Given the description of an element on the screen output the (x, y) to click on. 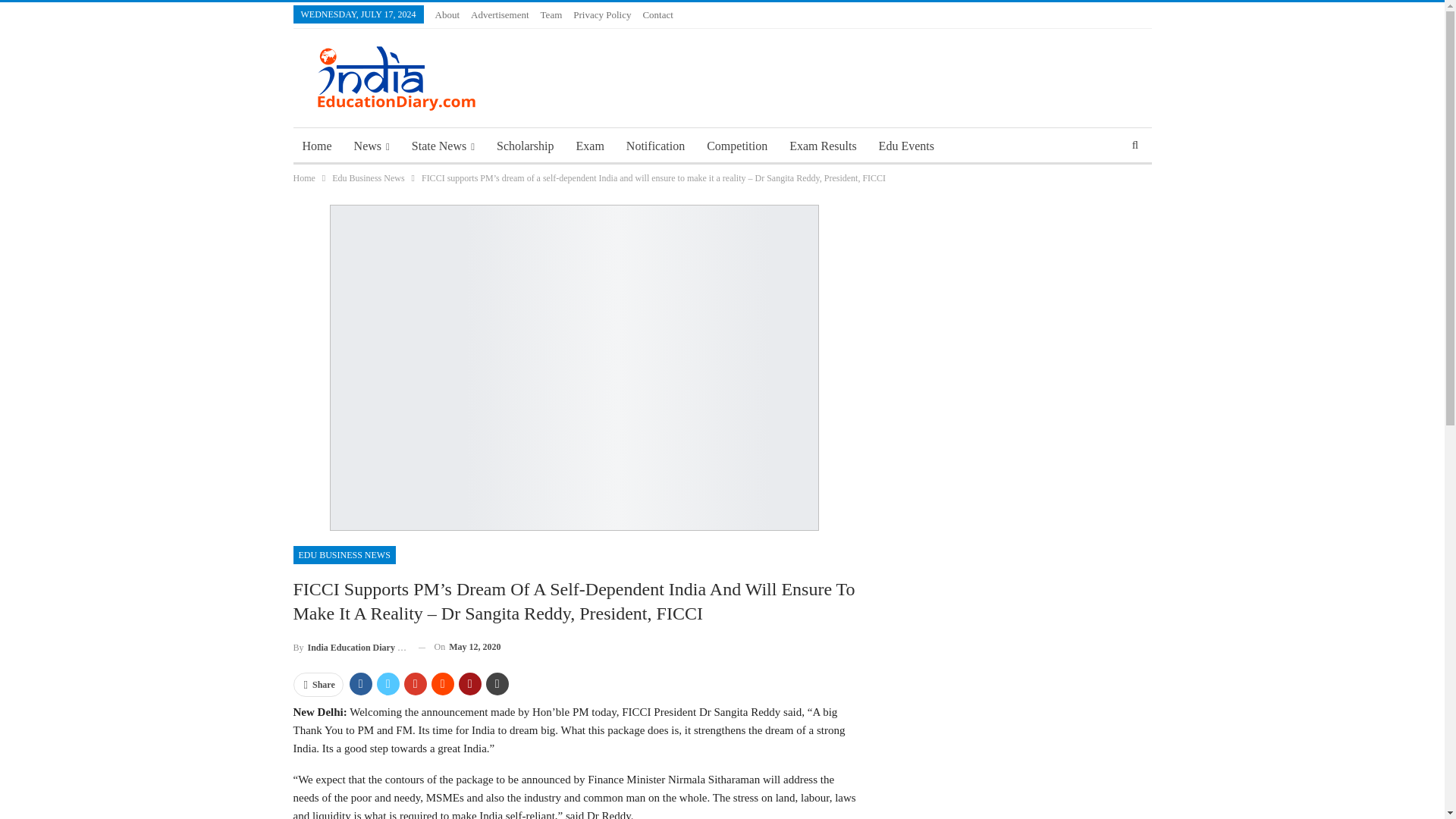
Home (316, 145)
Browse Author Articles (349, 647)
Privacy Policy (601, 14)
Contact (657, 14)
State News (443, 145)
Advertisement (499, 14)
News (371, 145)
Team (551, 14)
About (447, 14)
